Given the description of an element on the screen output the (x, y) to click on. 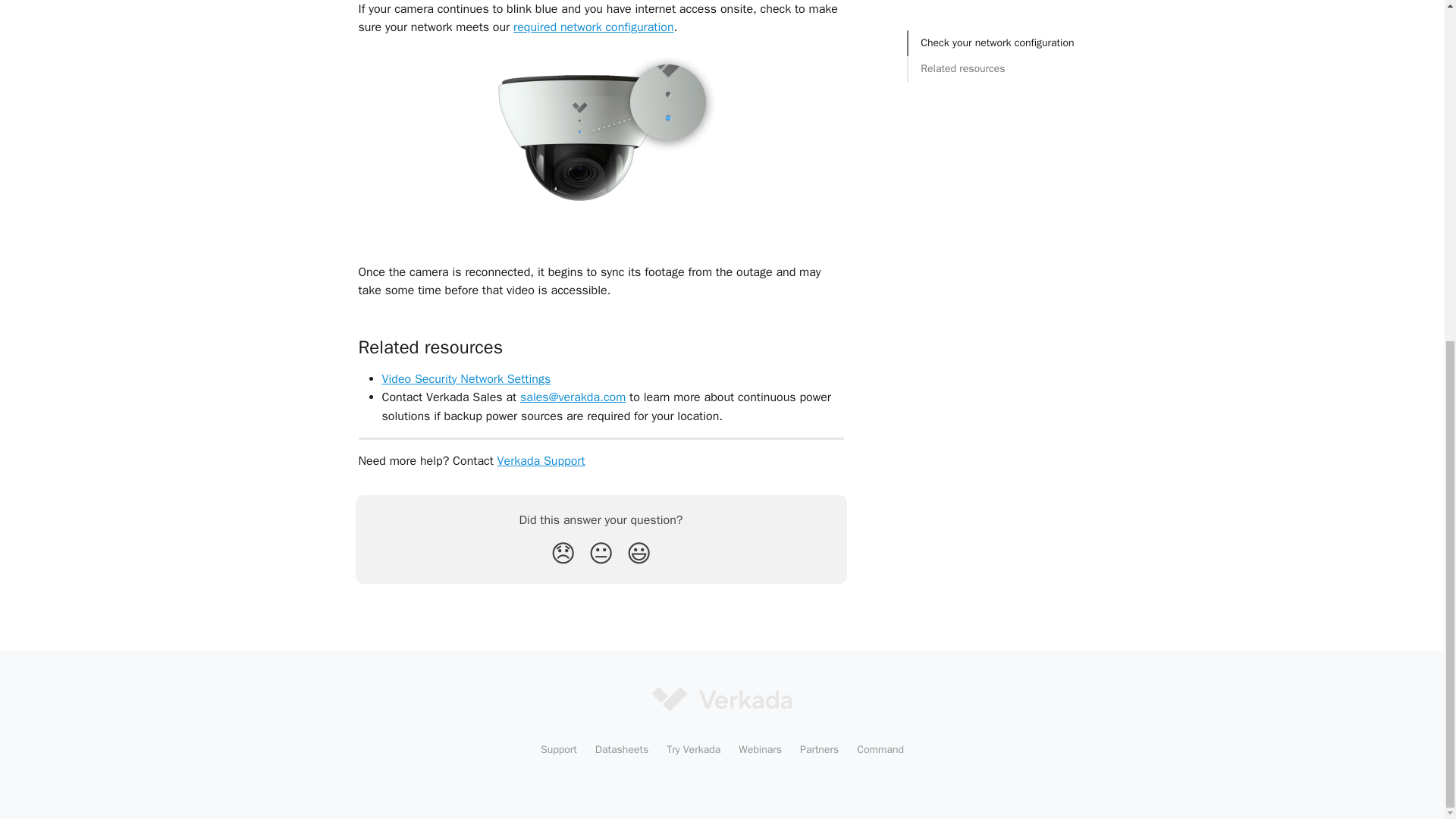
Video Security Network Settings (466, 378)
Verkada Support (541, 460)
Datasheets (621, 748)
Neutral (600, 553)
Disappointed (562, 553)
Support (558, 748)
Webinars (759, 748)
Try Verkada (693, 748)
Partners (818, 748)
Smiley (638, 553)
required network configuration (593, 27)
Command (880, 748)
